Given the description of an element on the screen output the (x, y) to click on. 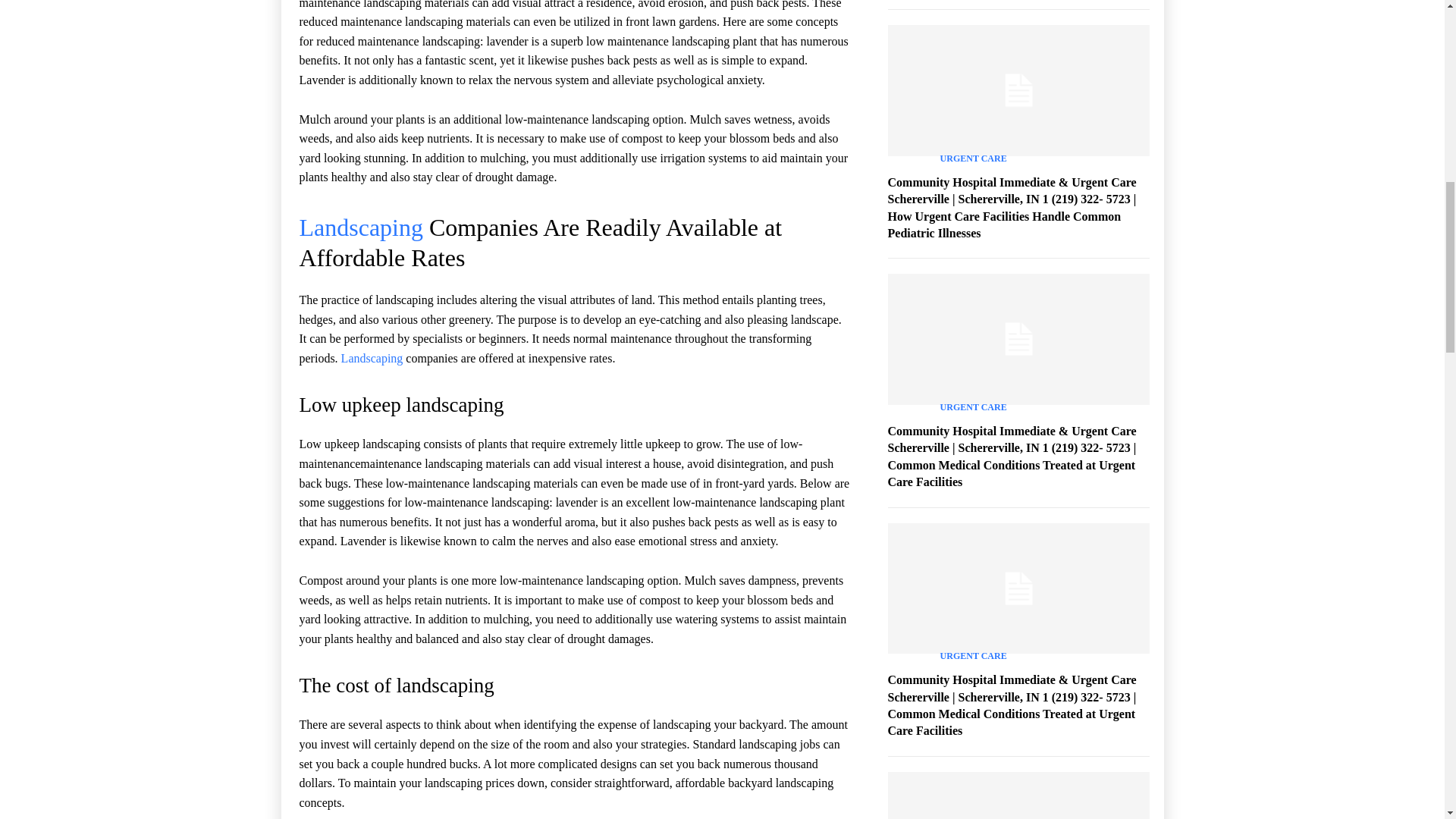
URGENT CARE (973, 157)
Landscaping (360, 226)
Landscaping (371, 358)
